Given the description of an element on the screen output the (x, y) to click on. 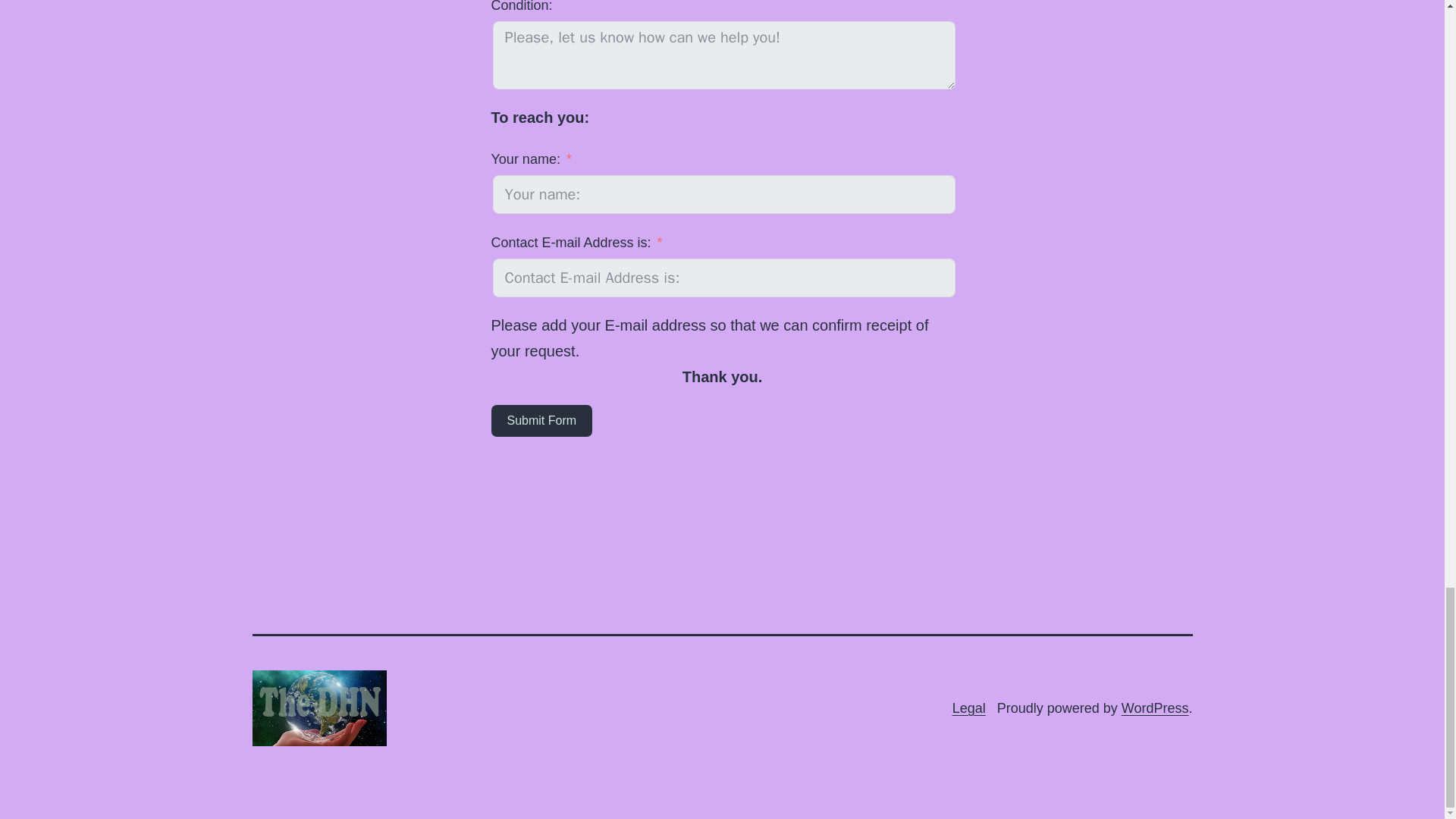
Submit Form (542, 420)
WordPress (1155, 708)
Legal (968, 708)
